Given the description of an element on the screen output the (x, y) to click on. 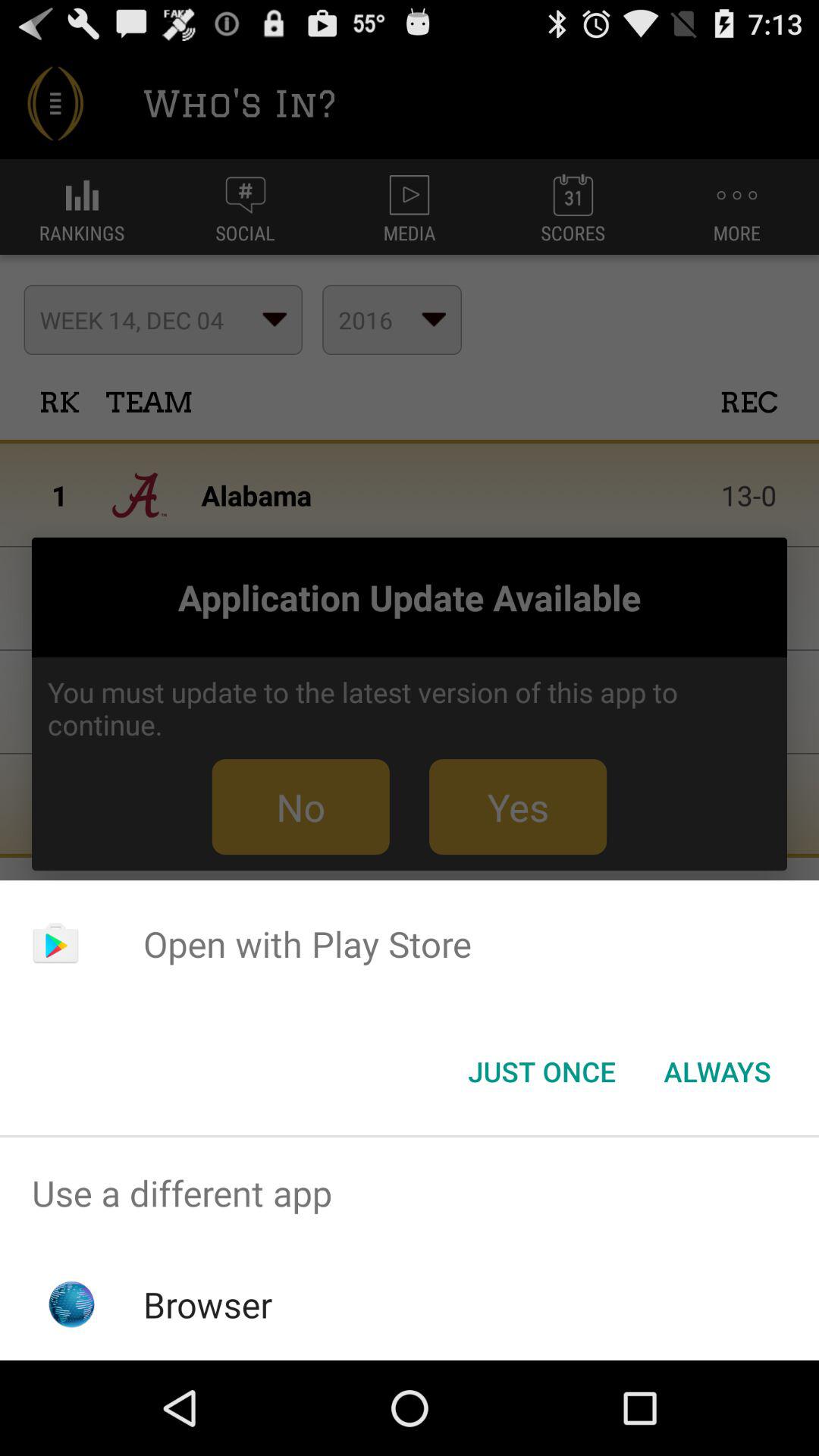
select the always at the bottom right corner (717, 1071)
